Given the description of an element on the screen output the (x, y) to click on. 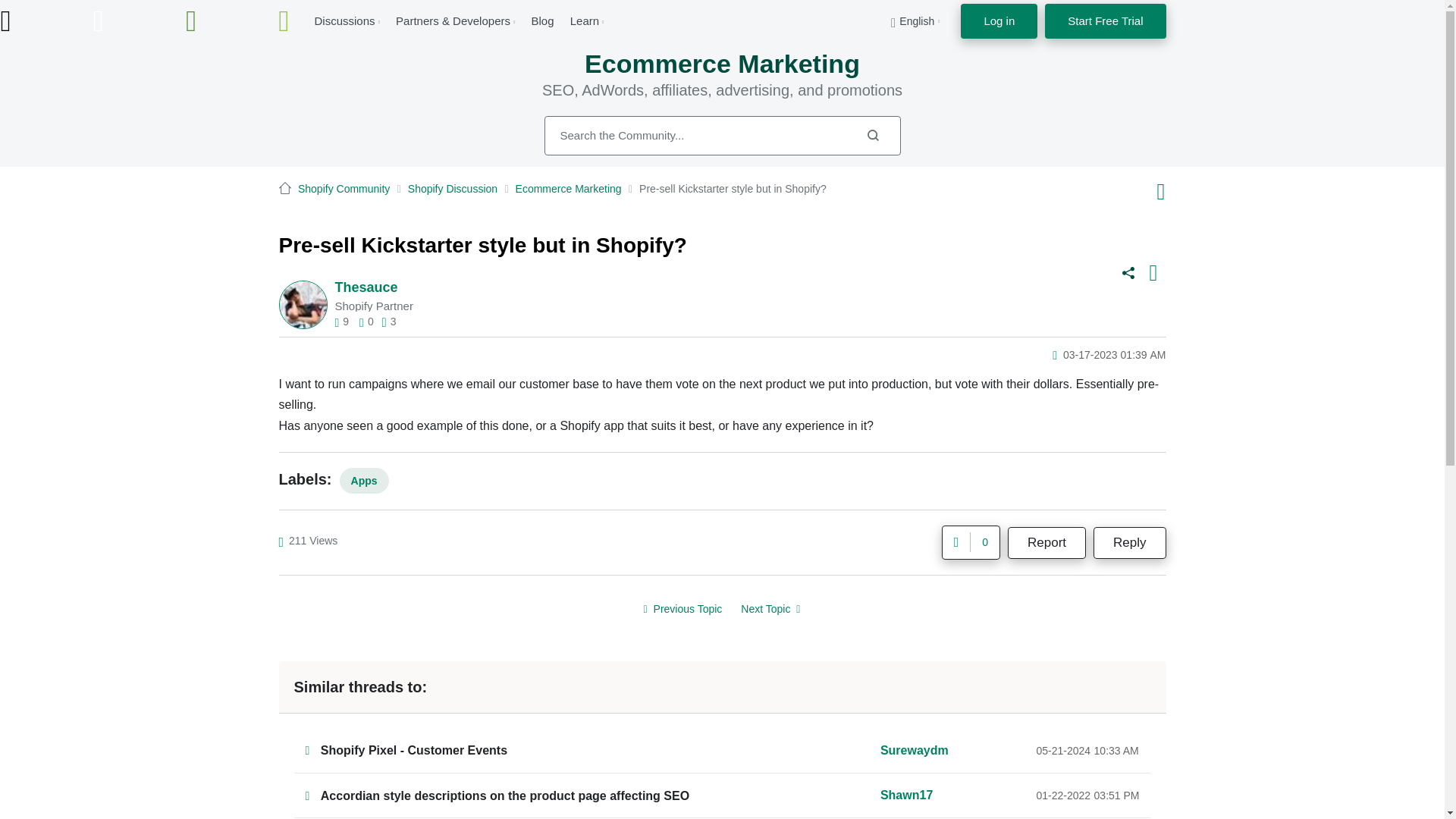
Discussions (344, 20)
Search (872, 135)
Search (872, 135)
Search (722, 135)
